Given the description of an element on the screen output the (x, y) to click on. 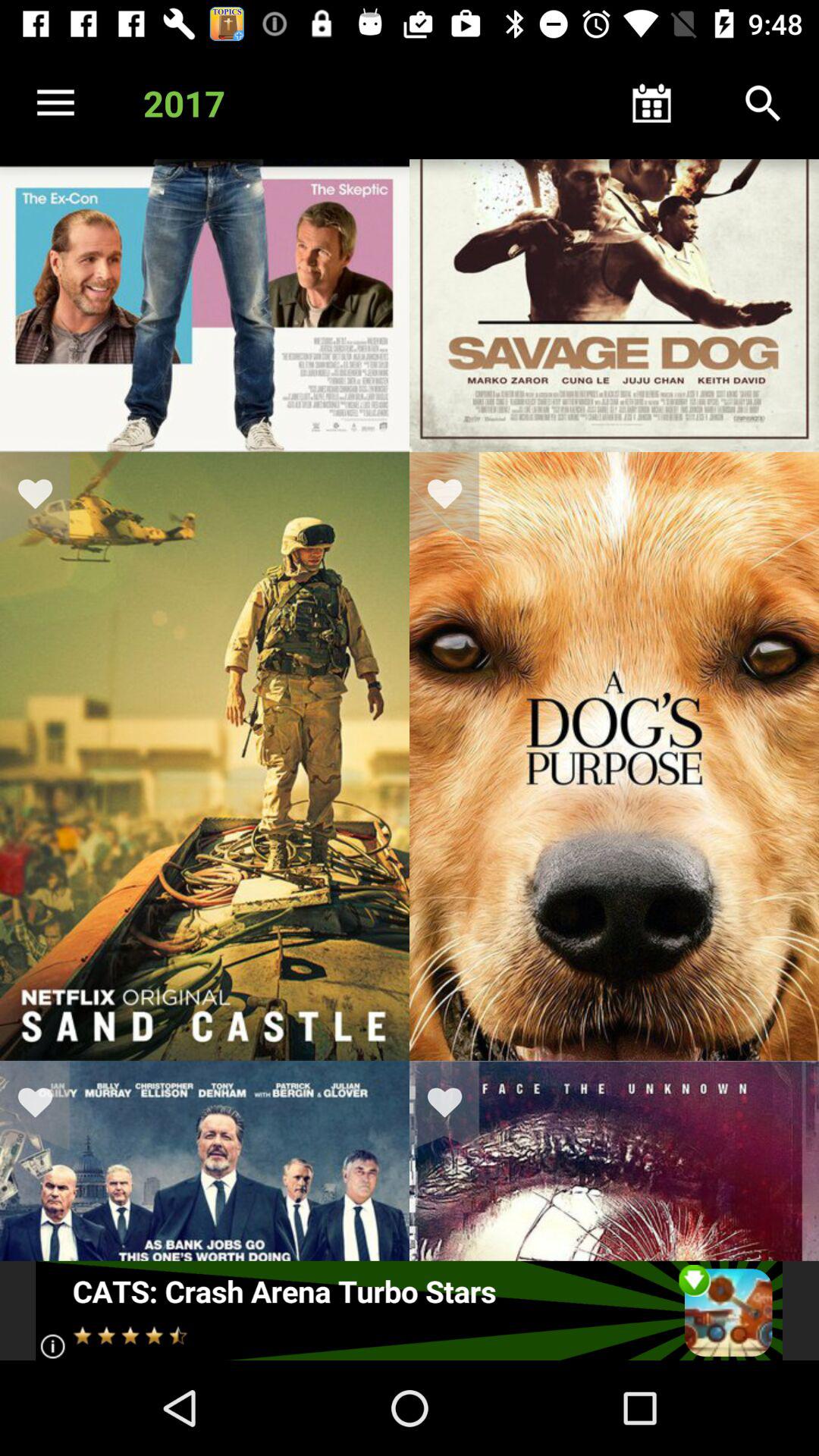
turn on the item to the left of 2017 (55, 103)
